Given the description of an element on the screen output the (x, y) to click on. 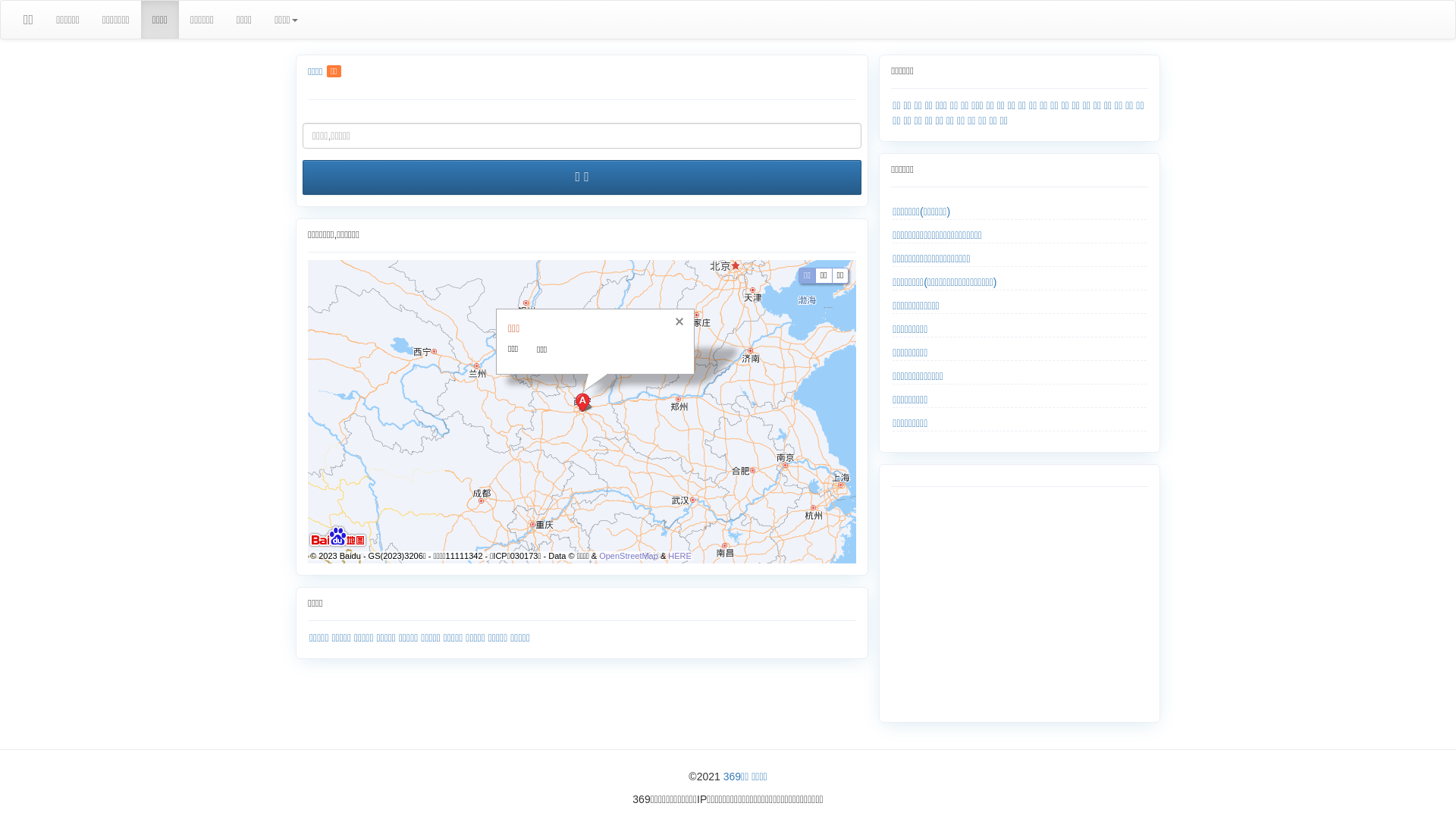
Advertisement Element type: hover (1018, 600)
OpenStreetMap Element type: text (628, 555)
HERE Element type: text (679, 555)
